Given the description of an element on the screen output the (x, y) to click on. 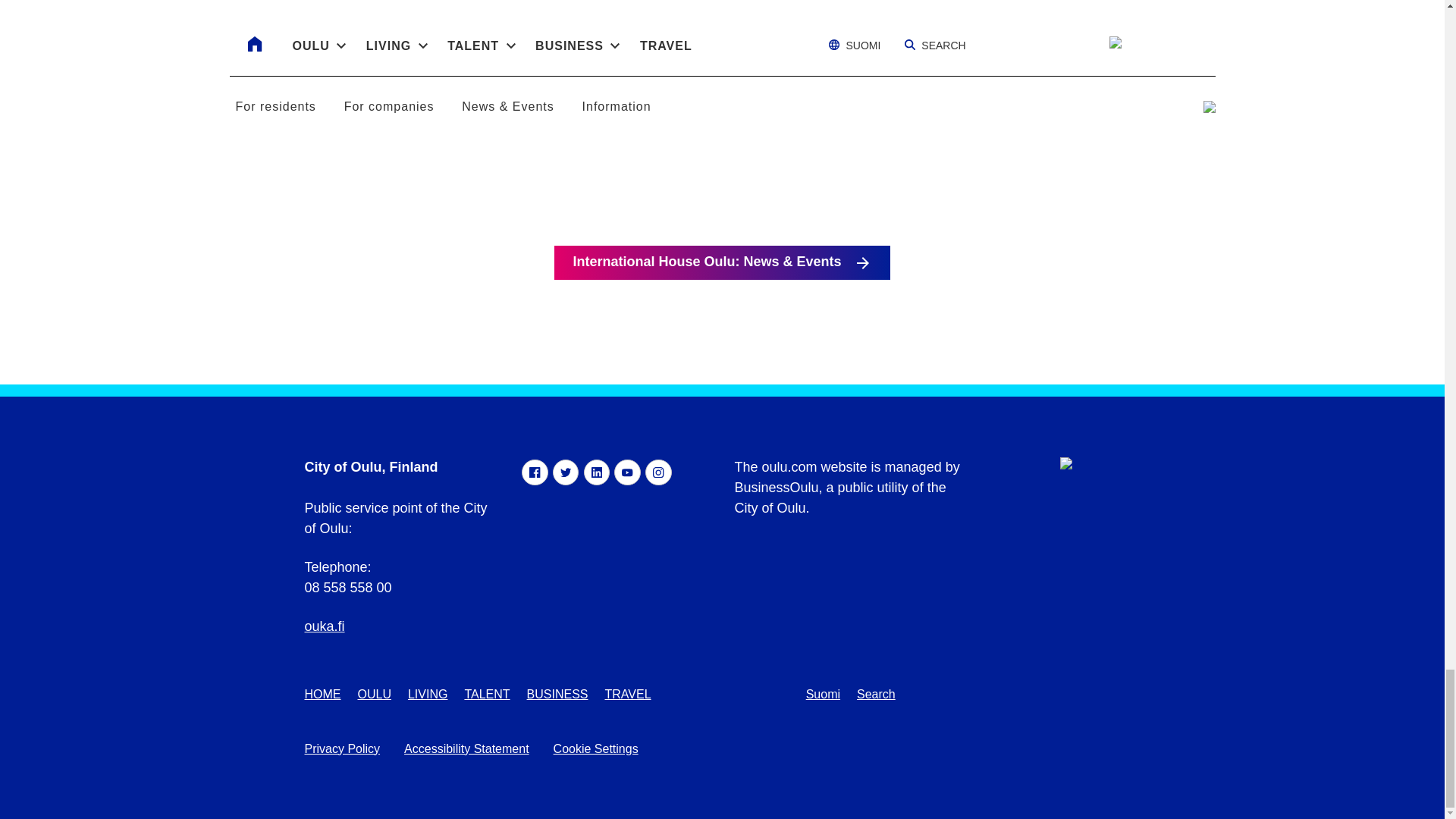
LinkedIn (596, 472)
YouTube (627, 472)
Twitter (565, 472)
Facebook (534, 472)
Instagram (658, 472)
